Given the description of an element on the screen output the (x, y) to click on. 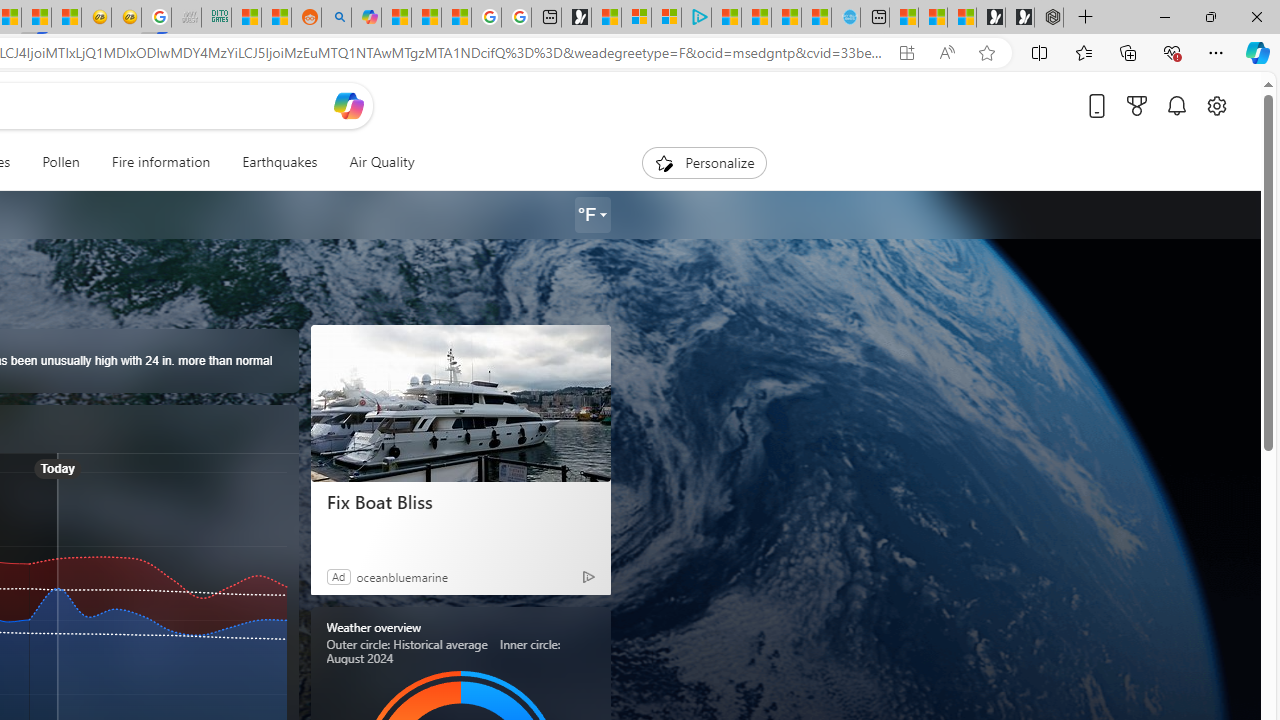
Pollen (60, 162)
